Given the description of an element on the screen output the (x, y) to click on. 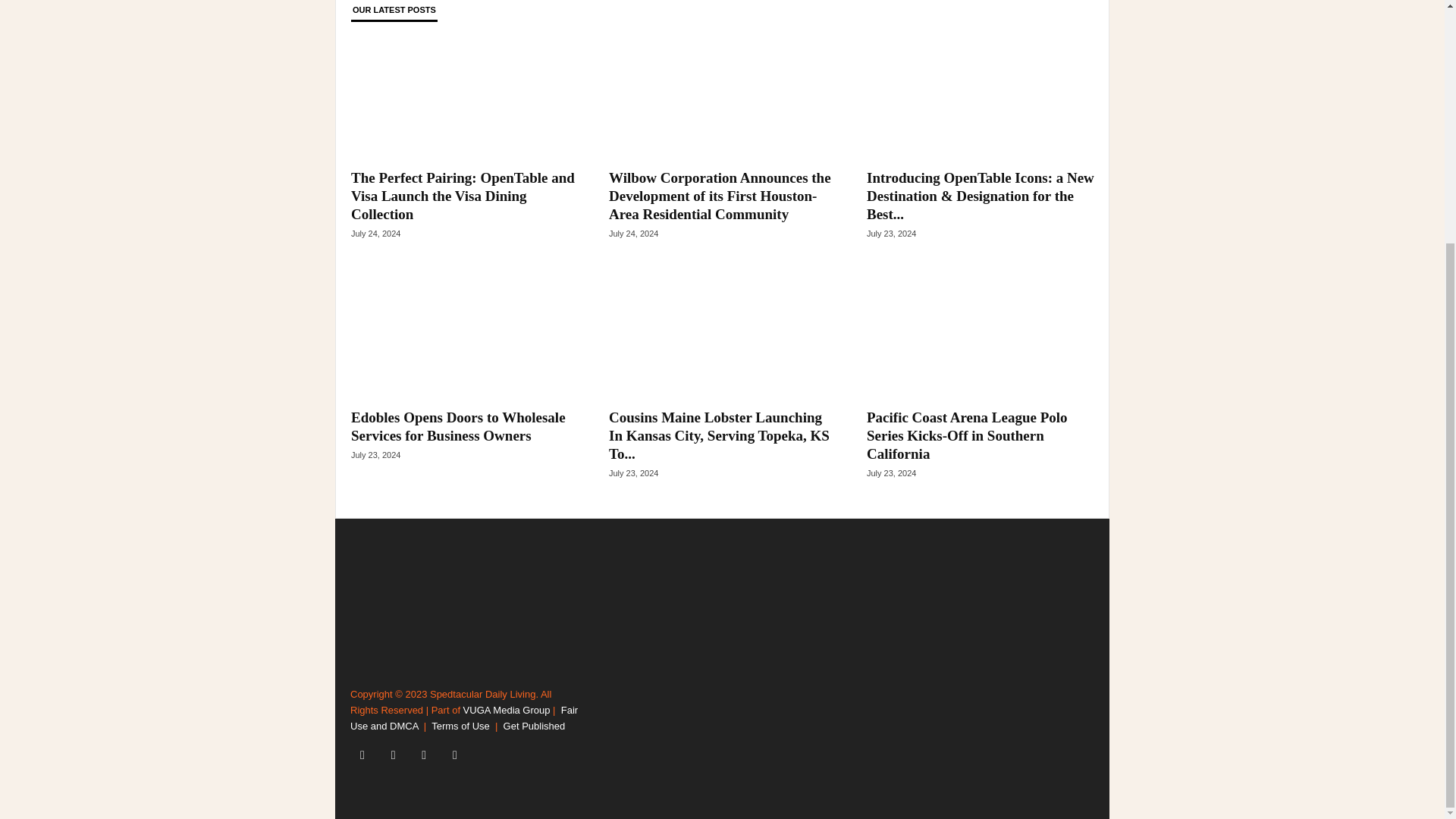
VUGA Media Group (506, 709)
